Given the description of an element on the screen output the (x, y) to click on. 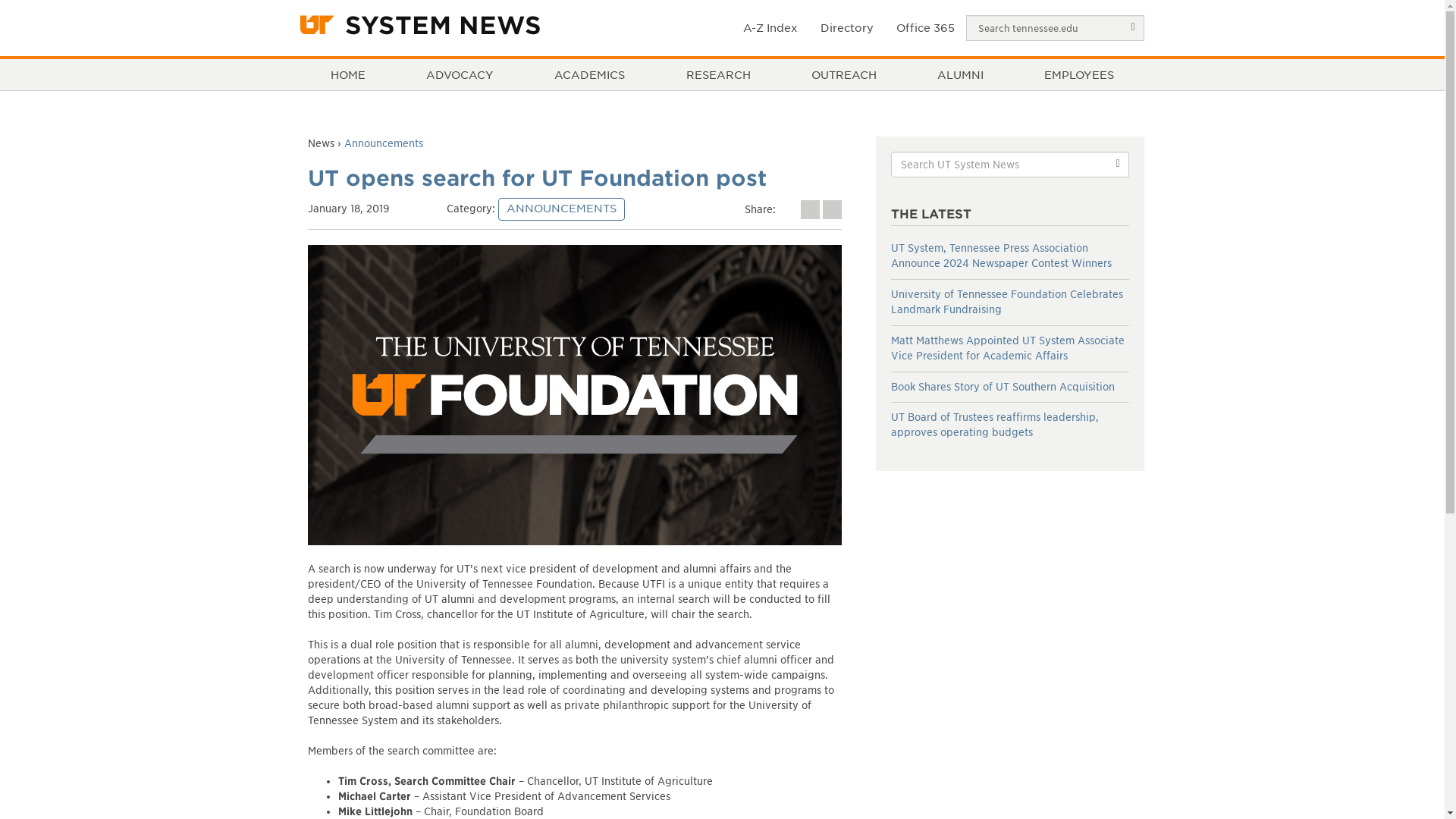
Directory (847, 27)
A-Z Index (770, 27)
ALUMNI (960, 74)
RESEARCH (717, 74)
ACADEMICS (589, 74)
Alumni (960, 74)
Outreach (843, 74)
